Given the description of an element on the screen output the (x, y) to click on. 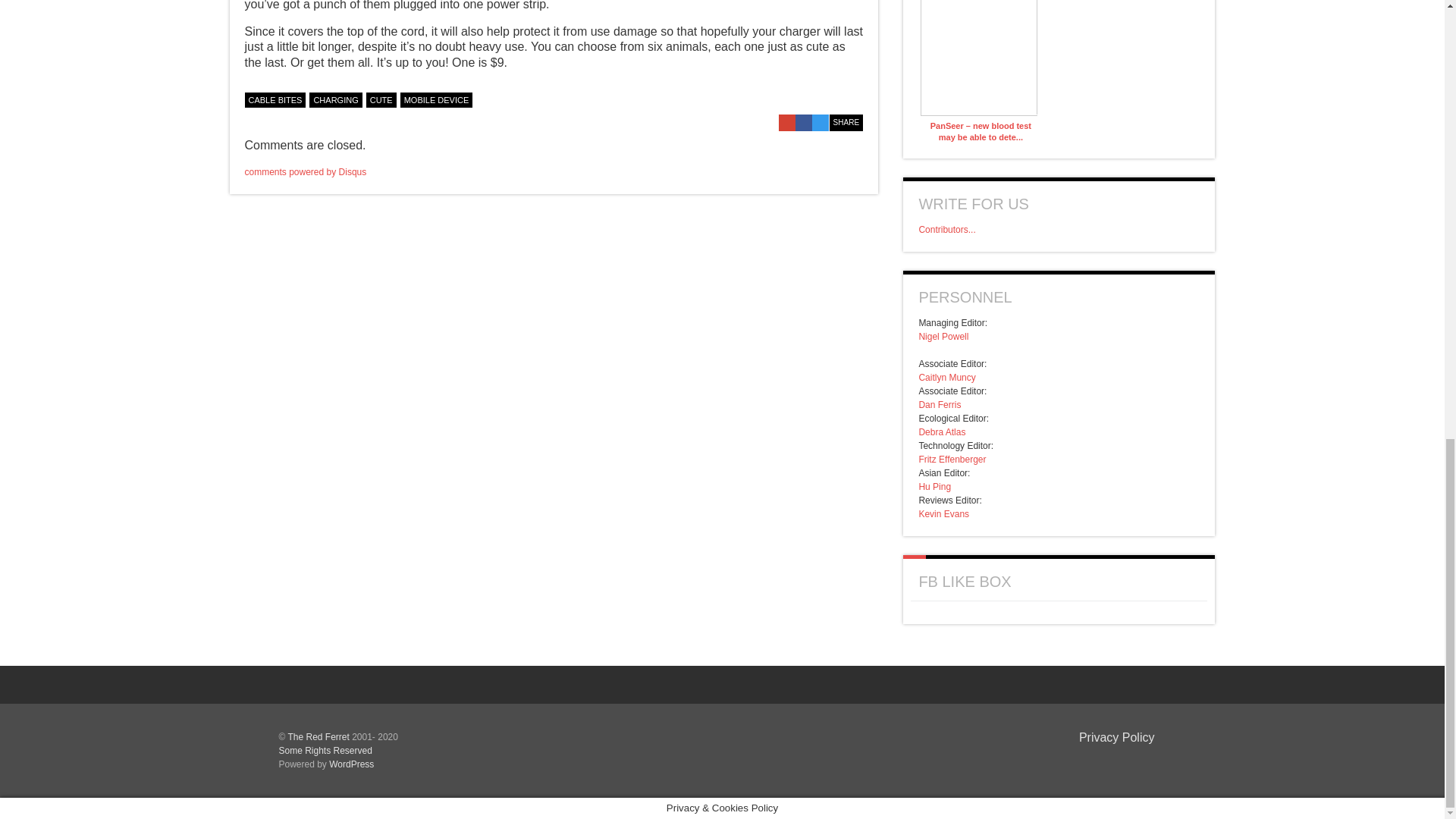
CUTE (381, 99)
CABLE BITES (274, 99)
comments powered by Disqus (305, 172)
MOBILE DEVICE (436, 99)
Caitlyn Muncy (946, 377)
Debra Atlas (941, 431)
Nigel Powell (943, 336)
Built by Bairwell (1130, 761)
Dan Ferris (939, 404)
Fritz Effenberger (951, 459)
